Given the description of an element on the screen output the (x, y) to click on. 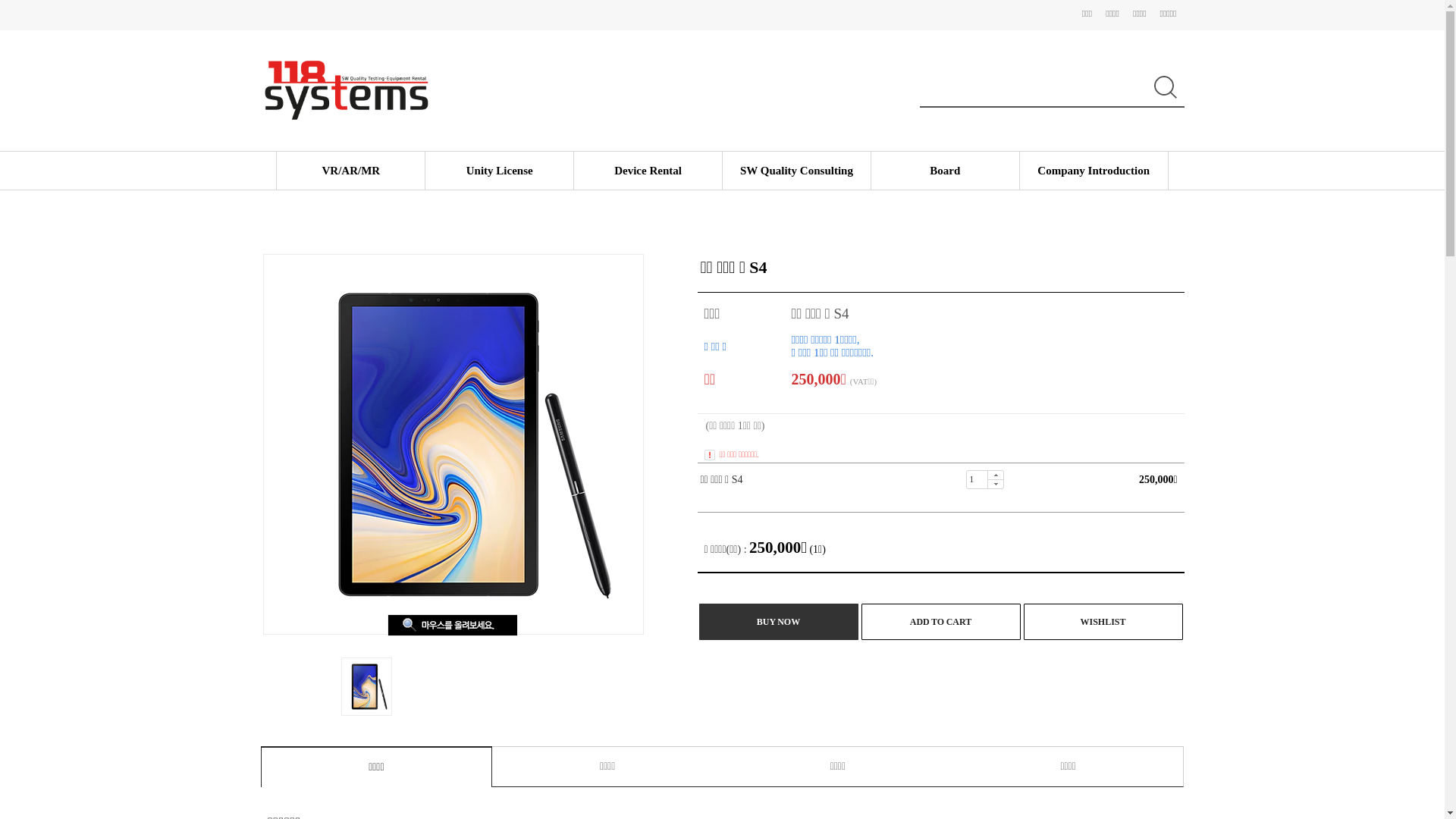
ADD TO CART Element type: text (940, 621)
SW Quality Consulting Element type: text (796, 170)
Board Element type: text (944, 170)
Unity License Element type: text (499, 170)
Device Rental Element type: text (647, 170)
Company Introduction Element type: text (1093, 170)
VR/AR/MR Element type: text (350, 170)
BUY NOW Element type: text (778, 621)
WISHLIST Element type: text (1103, 621)
